Given the description of an element on the screen output the (x, y) to click on. 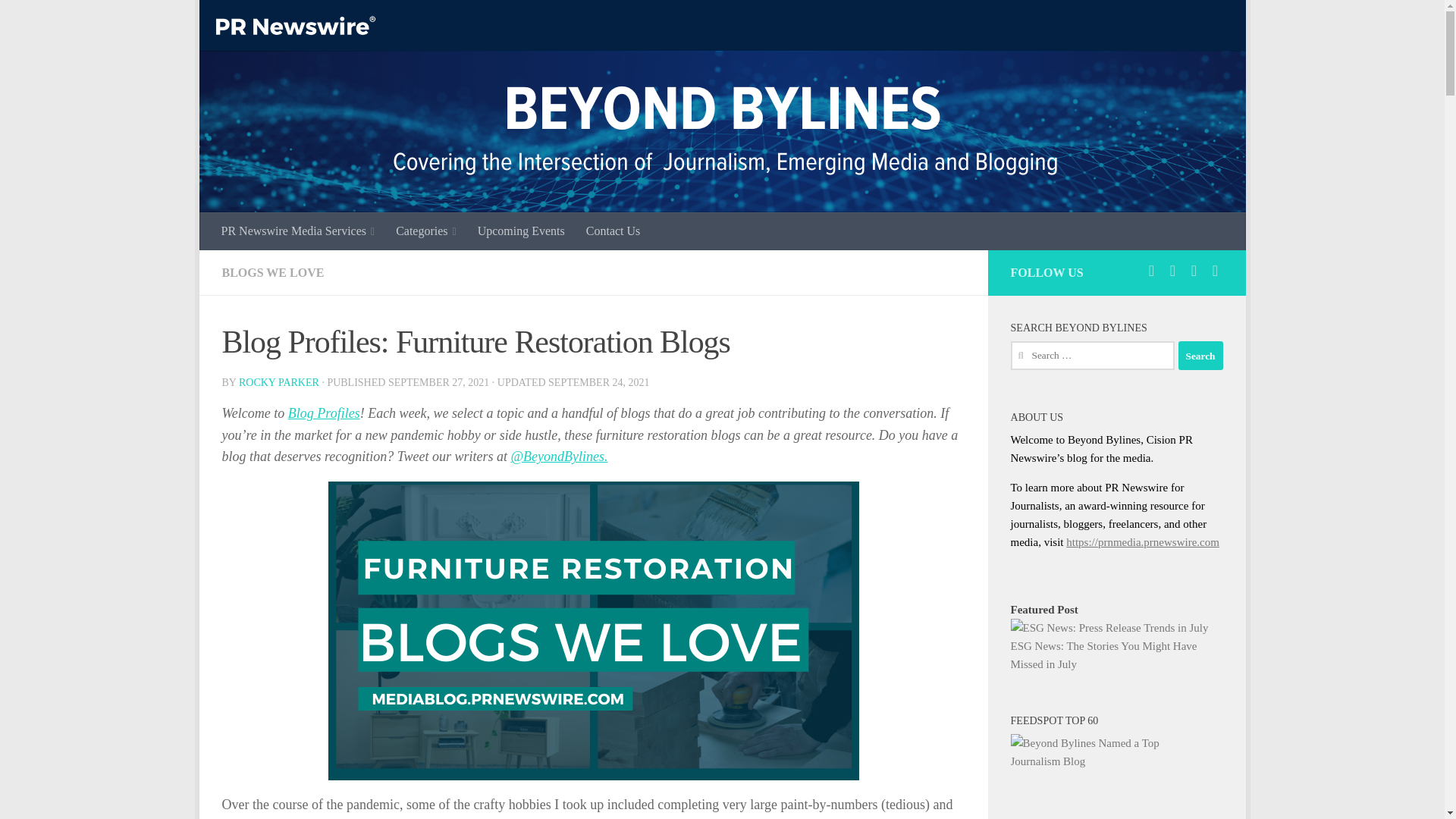
Blog Profiles (323, 412)
Contact Us (612, 231)
PR Newswire Media Services (298, 231)
Upcoming Events (521, 231)
Search (1200, 355)
Categories (426, 231)
Follow us on Twitter (1150, 270)
Search (1200, 355)
ROCKY PARKER (278, 382)
Posts by Rocky Parker (278, 382)
Skip to content (258, 20)
BLOGS WE LOVE (272, 272)
